Given the description of an element on the screen output the (x, y) to click on. 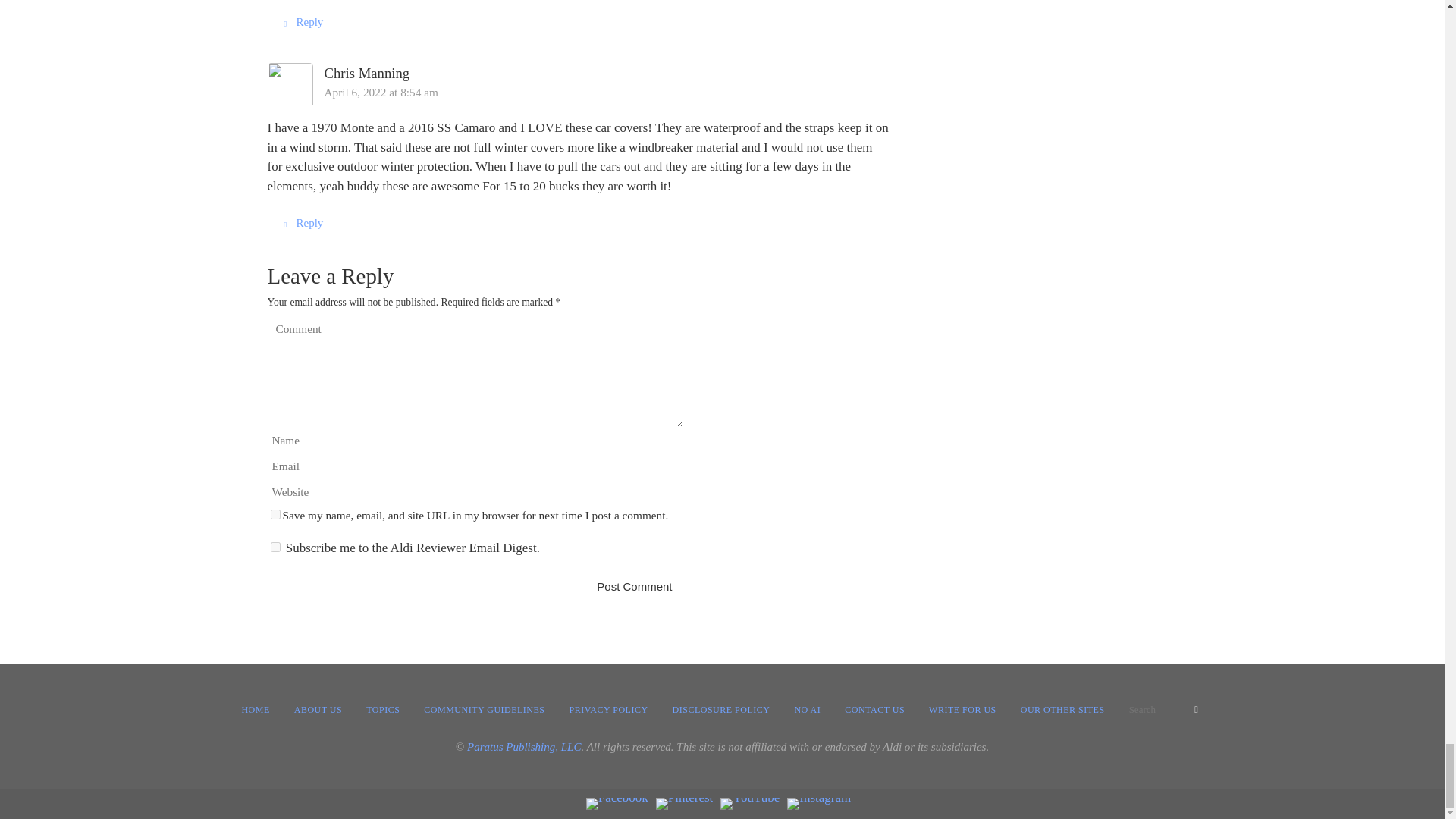
Post Comment (634, 586)
yes (274, 514)
Facebook (616, 803)
Pinterest (684, 803)
1 (274, 547)
